Given the description of an element on the screen output the (x, y) to click on. 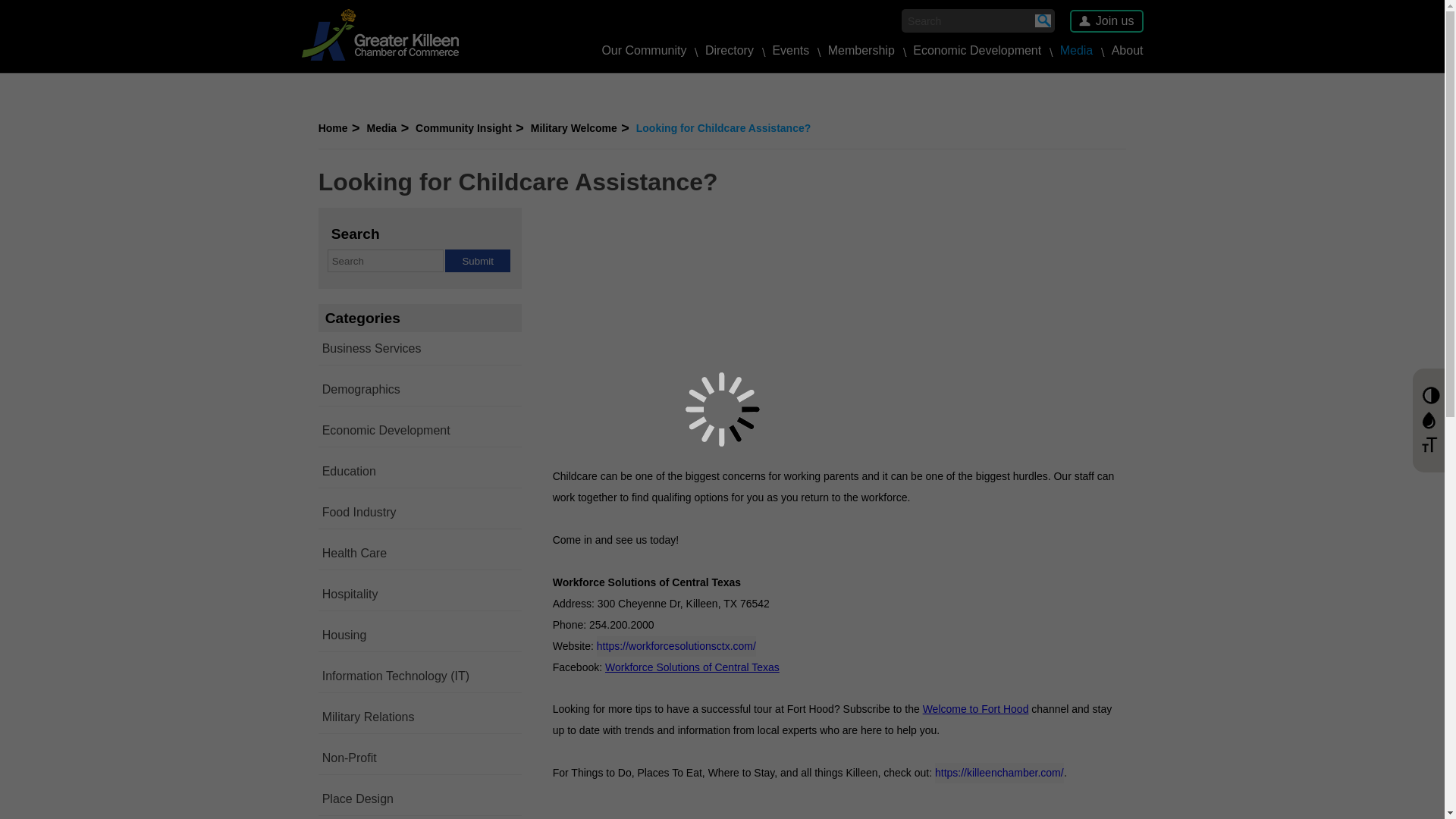
Economic Development (976, 50)
Contrast (1430, 395)
Grayscale (1430, 420)
Submit (477, 260)
Media (387, 128)
Chamber of Commerce Logo (379, 34)
Military Welcome (579, 128)
Fontsize (1430, 445)
Community Insight (469, 128)
Directory (729, 50)
